Given the description of an element on the screen output the (x, y) to click on. 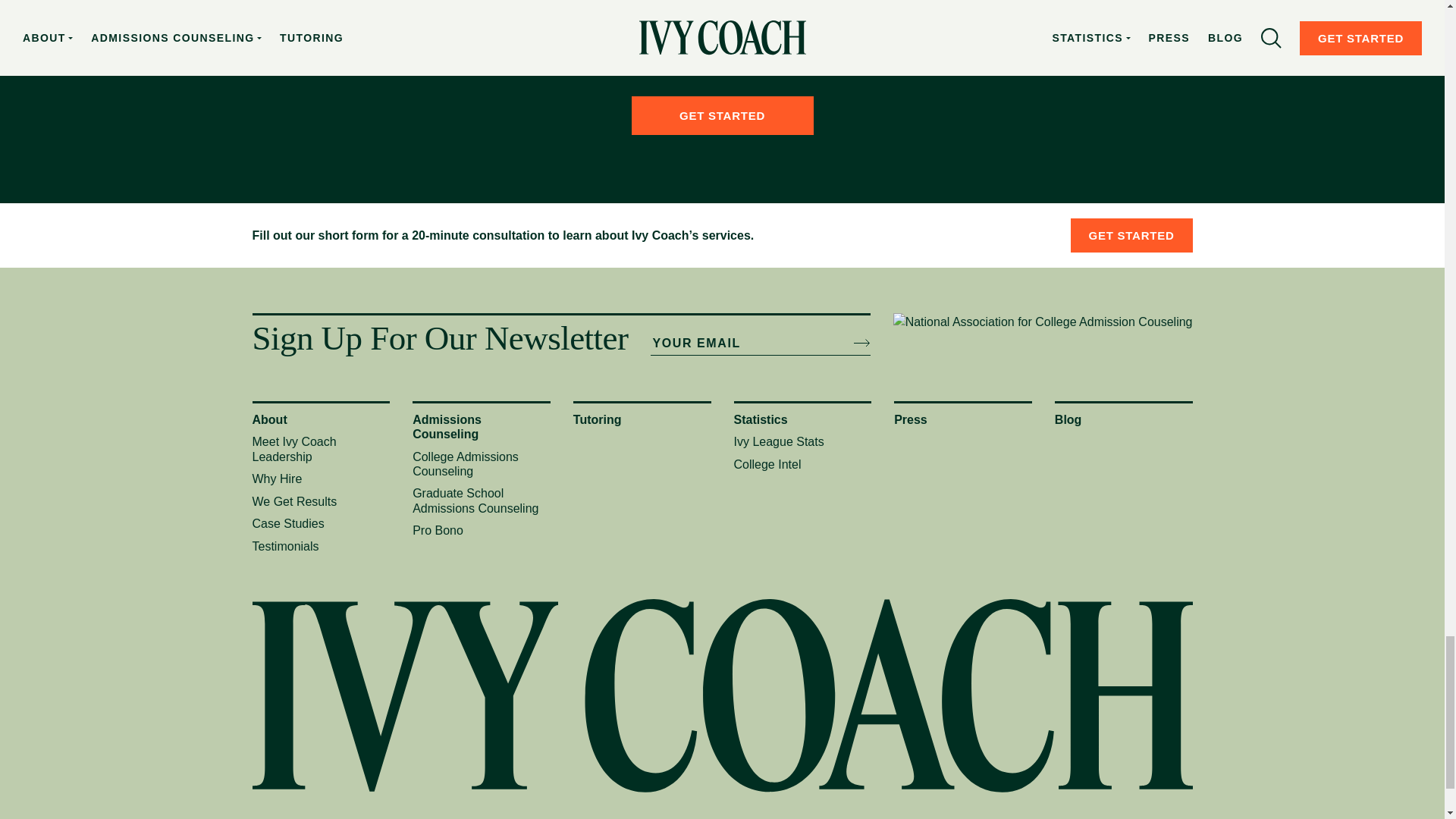
GET STARTED (721, 115)
About (268, 419)
Why Hire (276, 478)
Meet Ivy Coach Leadership (293, 448)
